Given the description of an element on the screen output the (x, y) to click on. 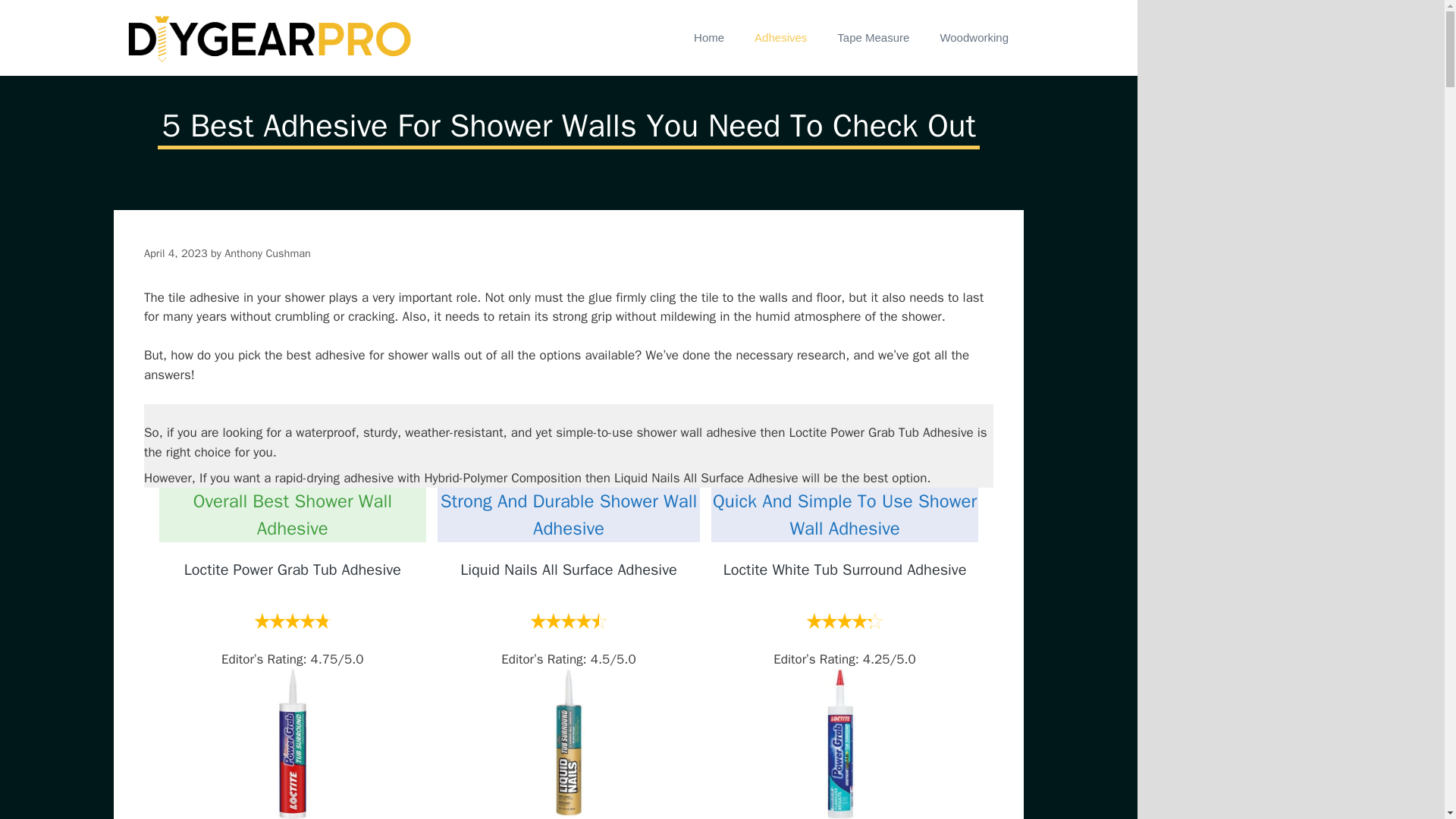
Tape Measure (873, 37)
Loctite-Power-Grab-Adhesive-1 (292, 744)
Adhesives (780, 37)
View all posts by Anthony Cushman (267, 253)
Anthony Cushman (267, 253)
DIYGEARPRO (266, 38)
Home (708, 37)
Loctite-White-Tub-Surround-Adhesive-3 (844, 744)
Liquid-Nails-All-Surface-Adhesive-2 (569, 742)
Woodworking (973, 37)
